Given the description of an element on the screen output the (x, y) to click on. 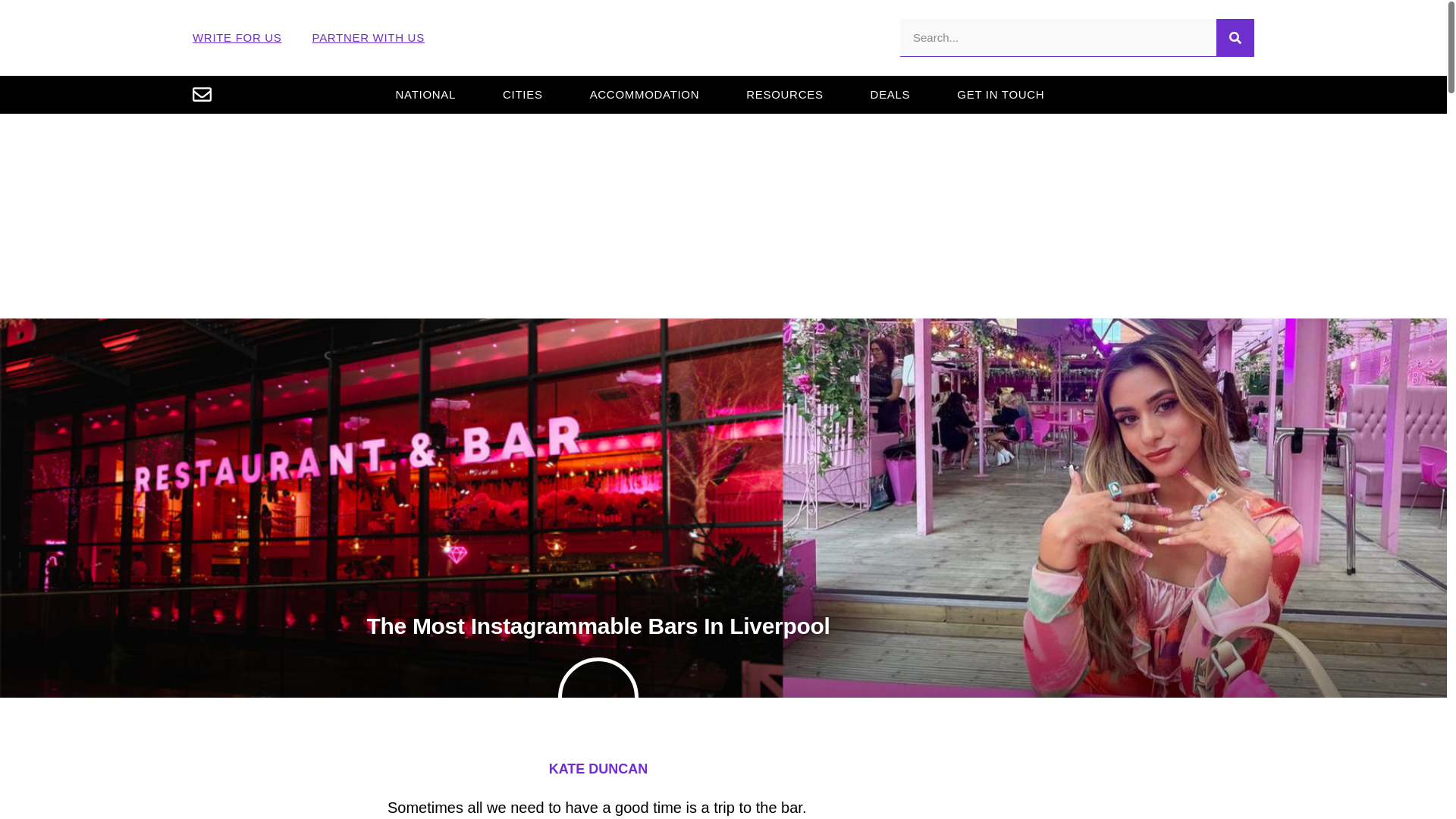
NATIONAL (425, 94)
PARTNER WITH US (369, 37)
CITIES (523, 94)
Unifresher (723, 38)
3rd party ad content (1098, 781)
ACCOMMODATION (644, 94)
WRITE FOR US (237, 37)
RESOURCES (784, 94)
